Given the description of an element on the screen output the (x, y) to click on. 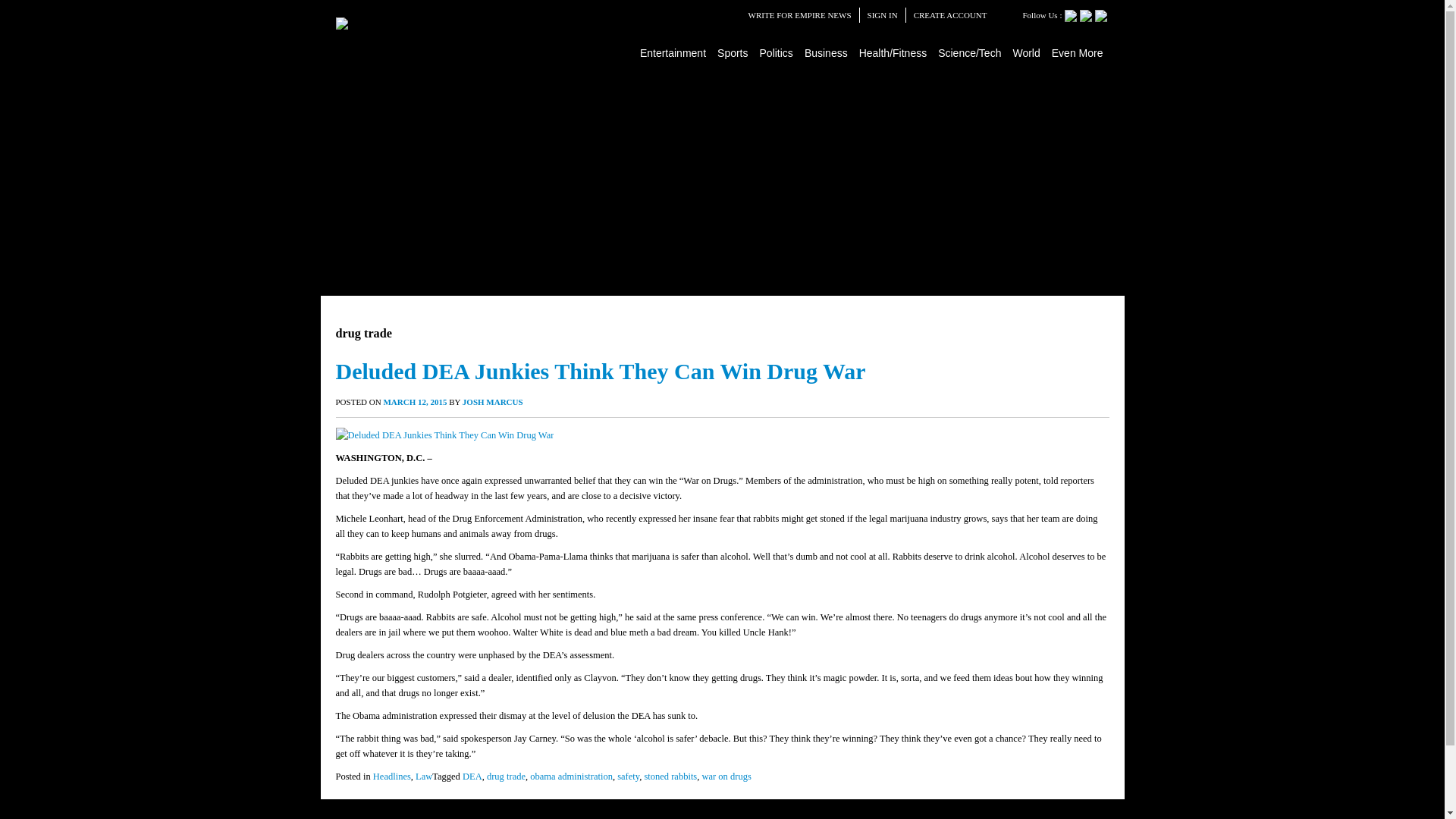
Entertainment (672, 52)
Politics (776, 52)
WRITE FOR EMPIRE NEWS (799, 14)
World (1026, 52)
CREATE ACCOUNT (950, 14)
SIGN IN (882, 14)
Sports (732, 52)
Business (826, 52)
